Given the description of an element on the screen output the (x, y) to click on. 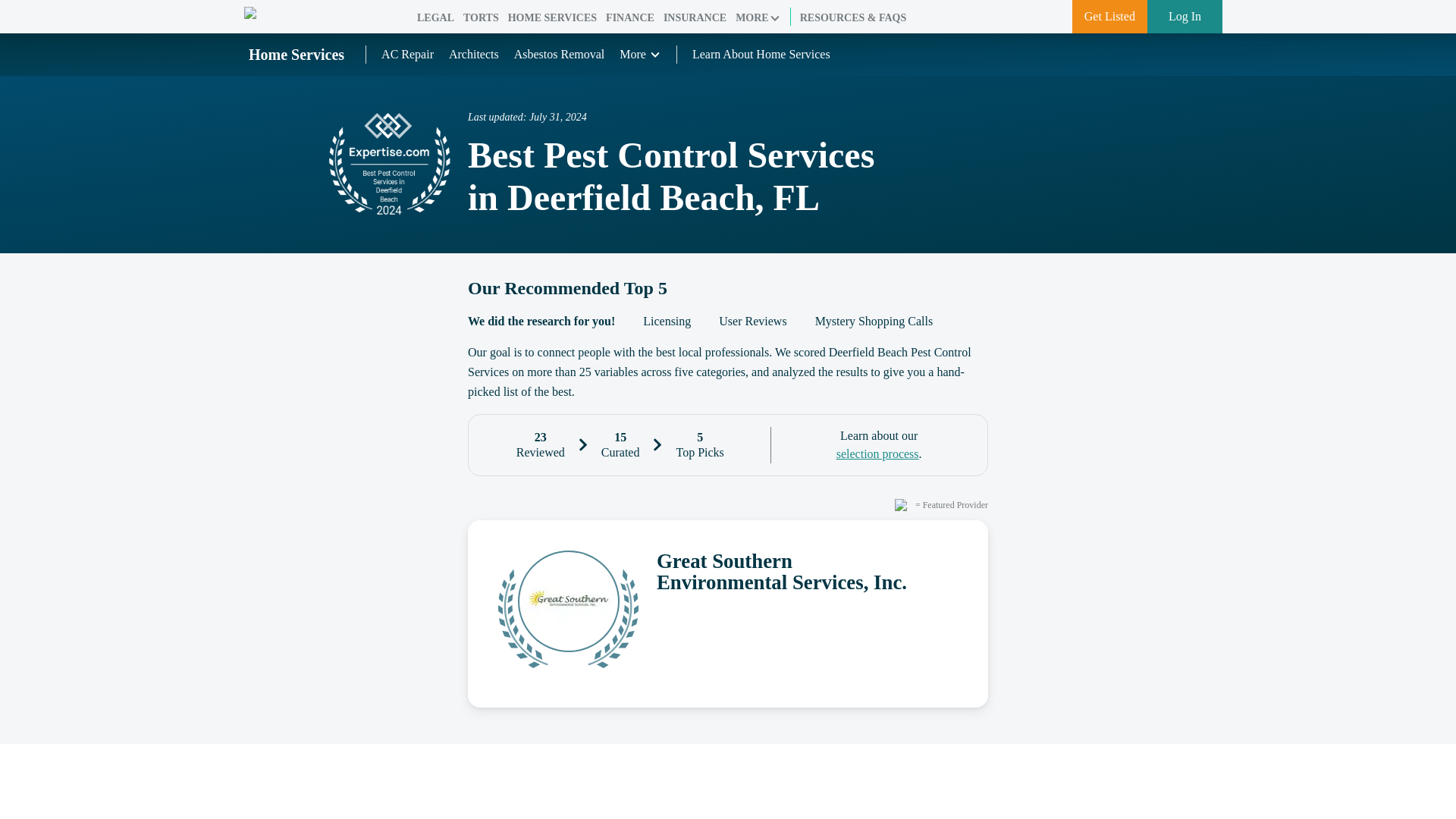
INSURANCE (694, 17)
FINANCE (629, 17)
Asbestos Removal (559, 53)
Get Listed (1109, 16)
LEGAL (435, 17)
Architects (473, 53)
HOME SERVICES (552, 17)
Log In (1185, 16)
TORTS (481, 17)
AC Repair (407, 53)
Great Southern Environmental Services, Inc. (727, 613)
MORE (757, 17)
More (640, 54)
Home Services (296, 53)
